Given the description of an element on the screen output the (x, y) to click on. 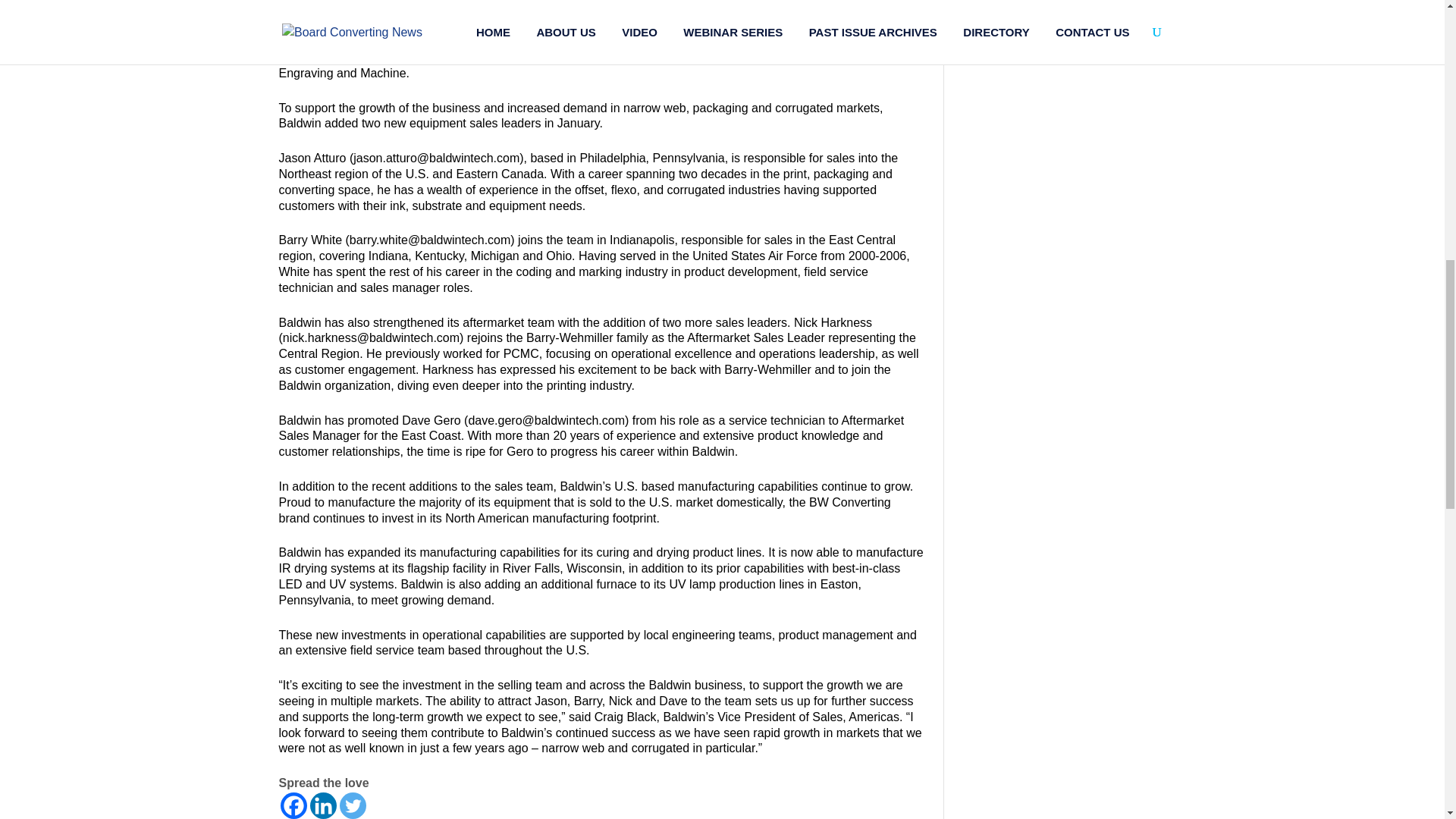
Facebook (294, 805)
Twitter (352, 805)
Linkedin (322, 805)
